Given the description of an element on the screen output the (x, y) to click on. 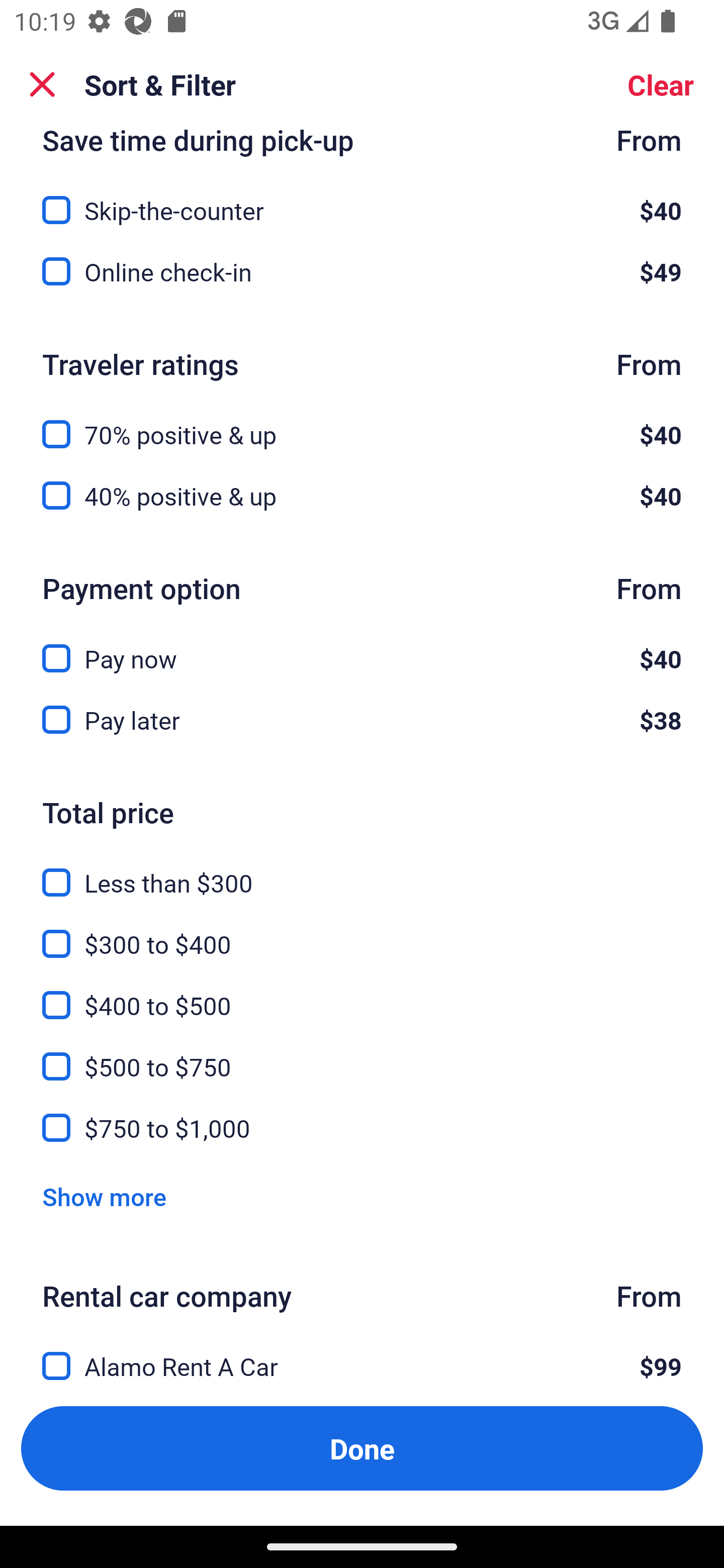
Close Sort and Filter (42, 84)
Clear (660, 84)
Skip-the-counter, $40 Skip-the-counter $40 (361, 197)
Online check-in, $49 Online check-in $49 (361, 270)
70% positive & up, $40 70% positive & up $40 (361, 422)
40% positive & up, $40 40% positive & up $40 (361, 495)
Pay now, $40 Pay now $40 (361, 646)
Pay later, $38 Pay later $38 (361, 719)
Less than $300, Less than $300 (361, 870)
$300 to $400, $300 to $400 (361, 931)
$400 to $500, $400 to $500 (361, 993)
$500 to $750, $500 to $750 (361, 1055)
$750 to $1,000, $750 to $1,000 (361, 1127)
Show more Show more Link (103, 1196)
Alamo Rent A Car, $99 Alamo Rent A Car $99 (361, 1355)
Apply and close Sort and Filter Done (361, 1448)
